Given the description of an element on the screen output the (x, y) to click on. 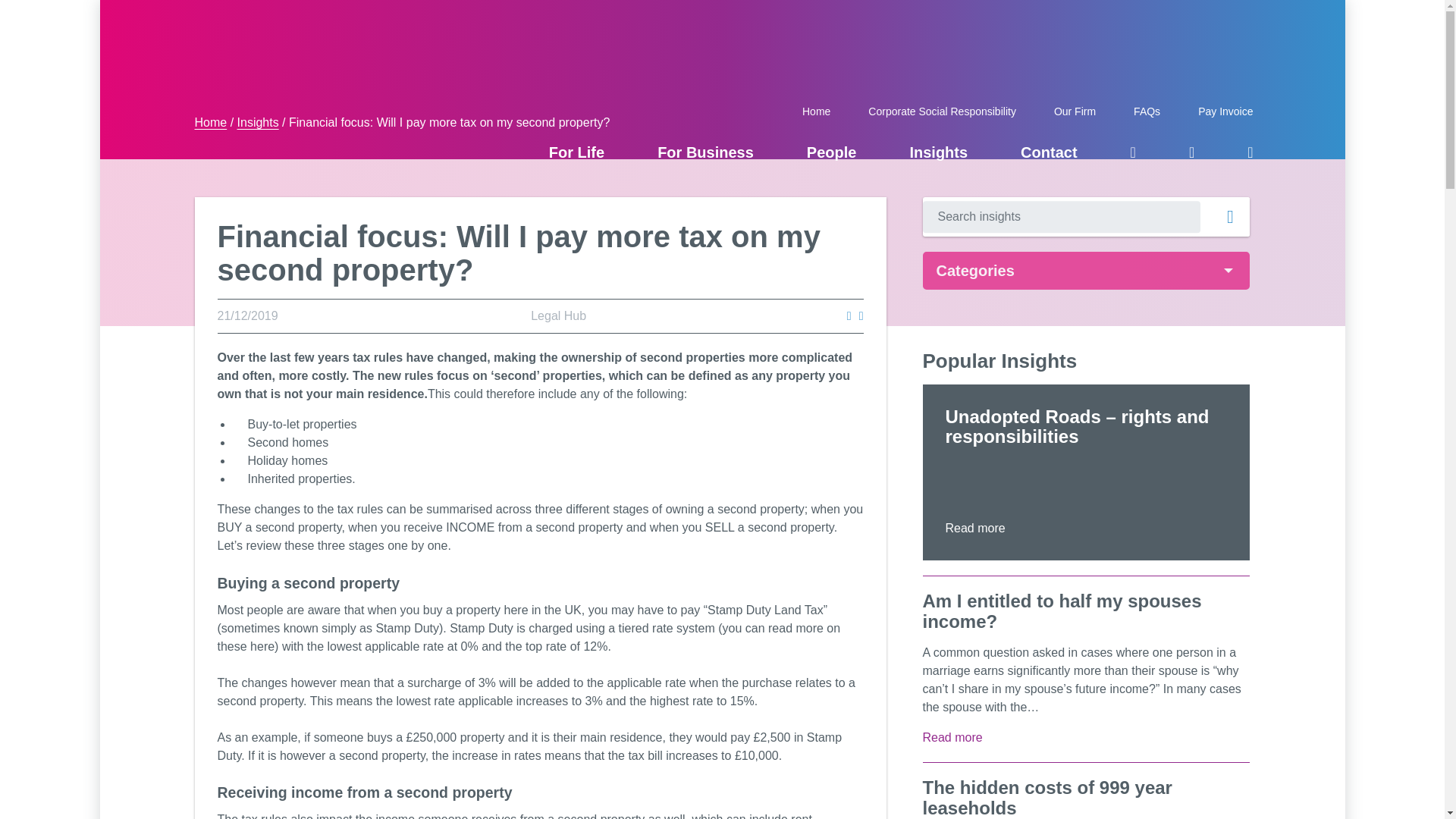
Our Firm (1074, 110)
For Life (576, 151)
For Business (706, 151)
FAQs (1147, 110)
Insights (938, 151)
Contact (1048, 151)
Home (815, 110)
People (831, 151)
Pay Invoice (1219, 110)
Corporate Social Responsibility (942, 110)
